Given the description of an element on the screen output the (x, y) to click on. 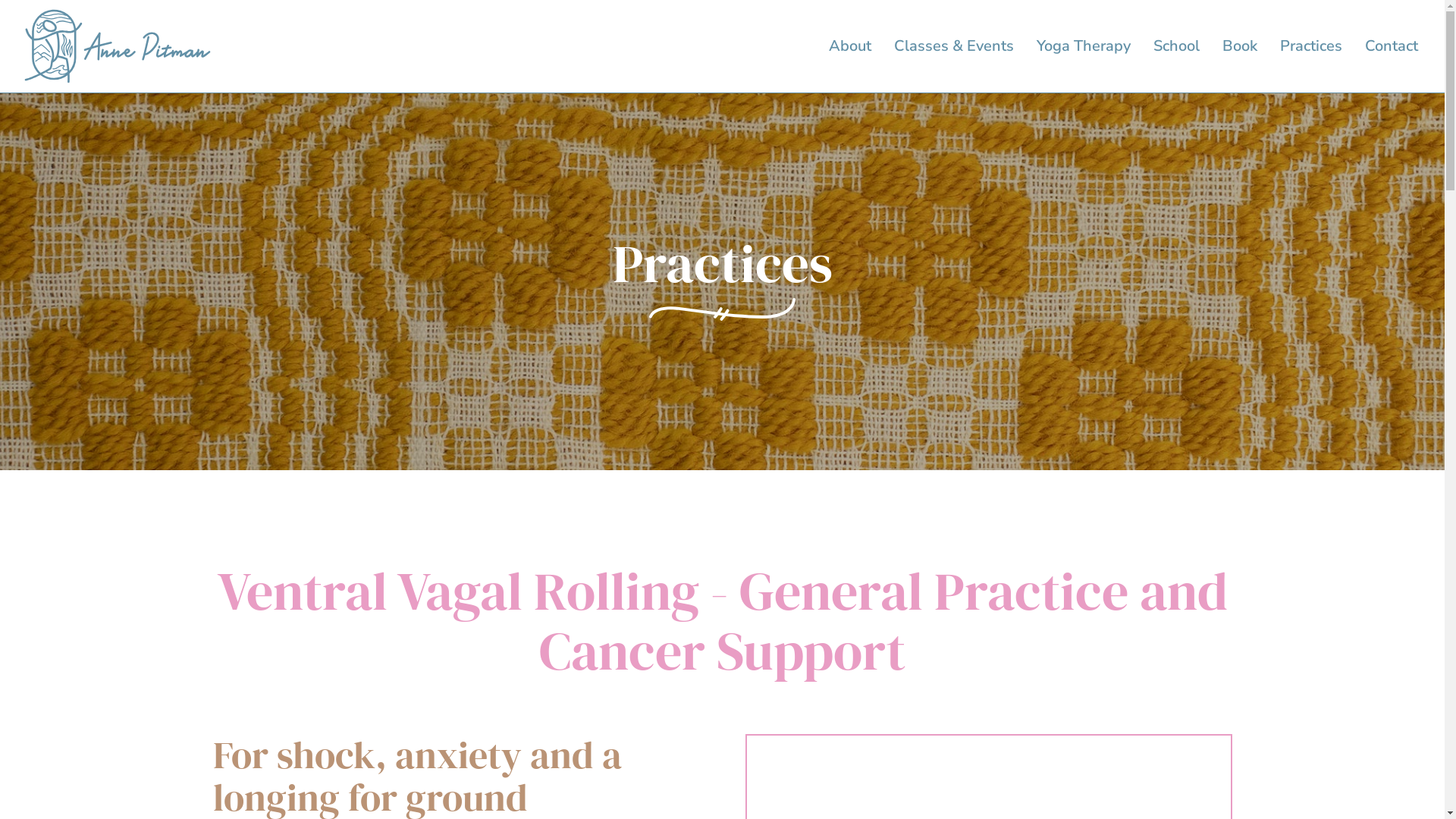
About Element type: text (849, 46)
School Element type: text (1176, 46)
Classes & Events Element type: text (953, 46)
Book Element type: text (1239, 46)
Yoga Therapy Element type: text (1083, 46)
Contact Element type: text (1391, 46)
Practices Element type: text (1310, 46)
